Given the description of an element on the screen output the (x, y) to click on. 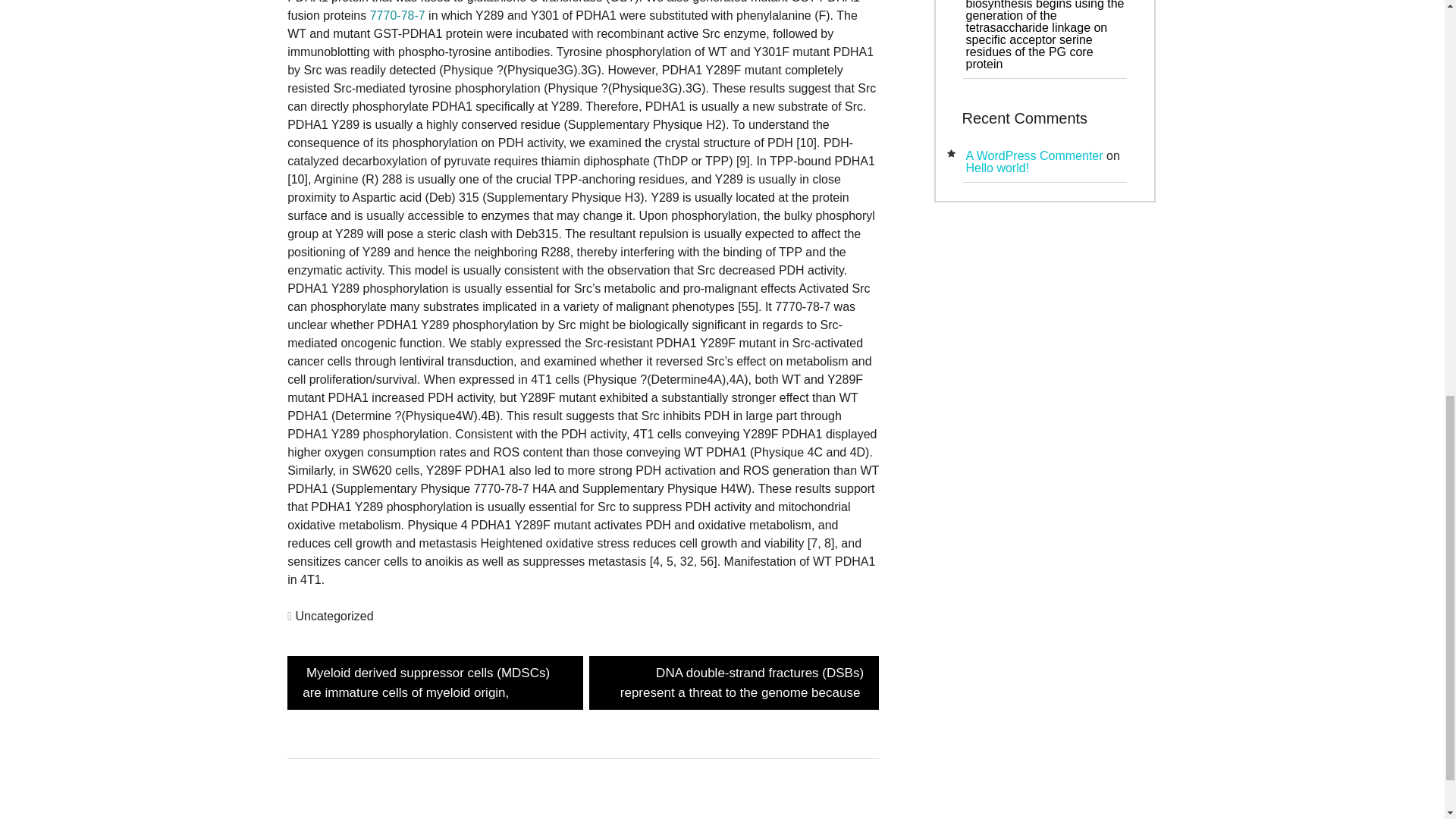
A WordPress Commenter (1033, 155)
7770-78-7 (397, 15)
Hello world! (997, 167)
